Given the description of an element on the screen output the (x, y) to click on. 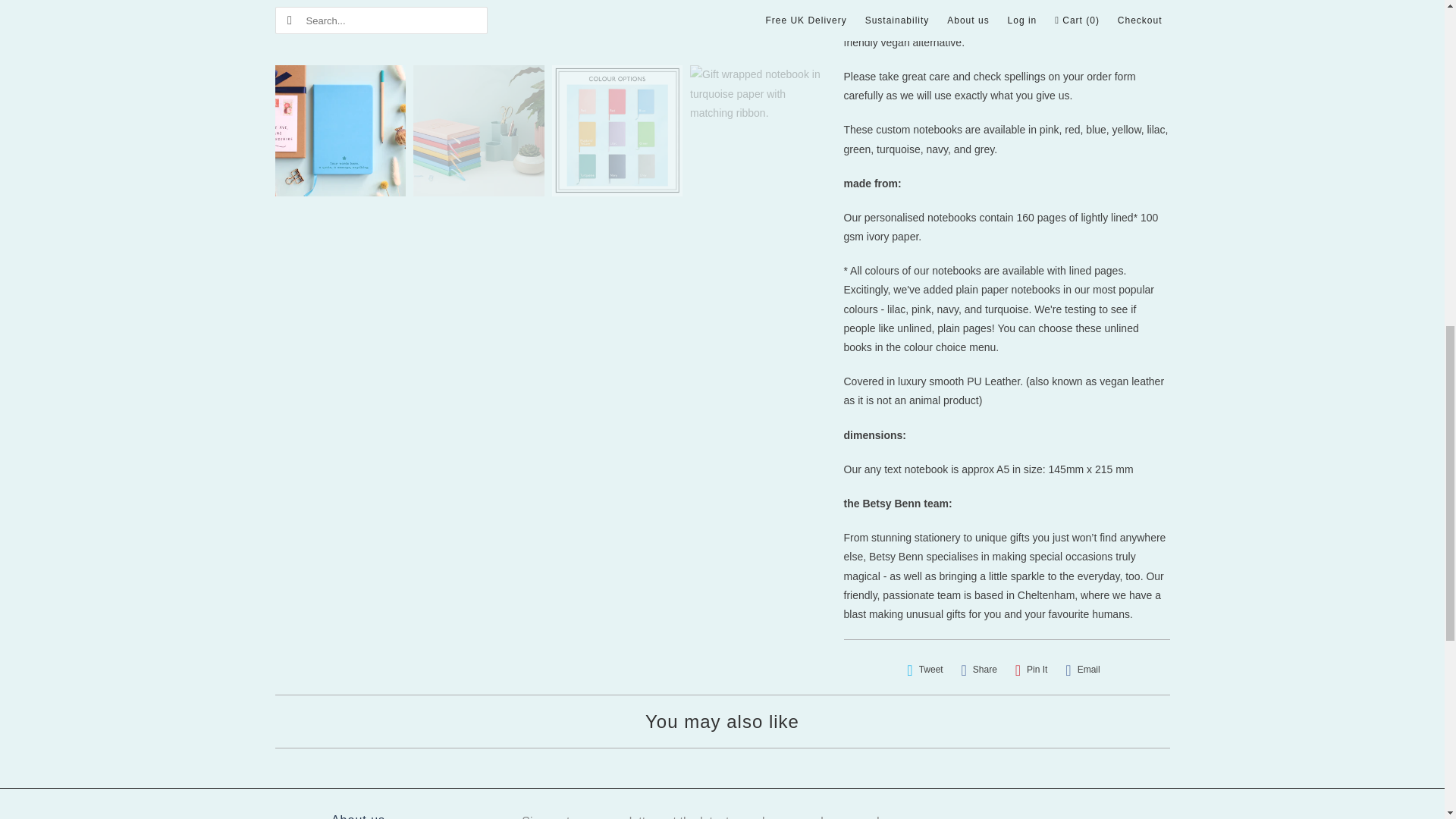
Share this on Pinterest (1031, 669)
Share this on Twitter (924, 669)
Share this on Facebook (978, 669)
Email this to a friend (1082, 669)
Your Words Typewriter Text Personalised Notebook (552, 24)
